Given the description of an element on the screen output the (x, y) to click on. 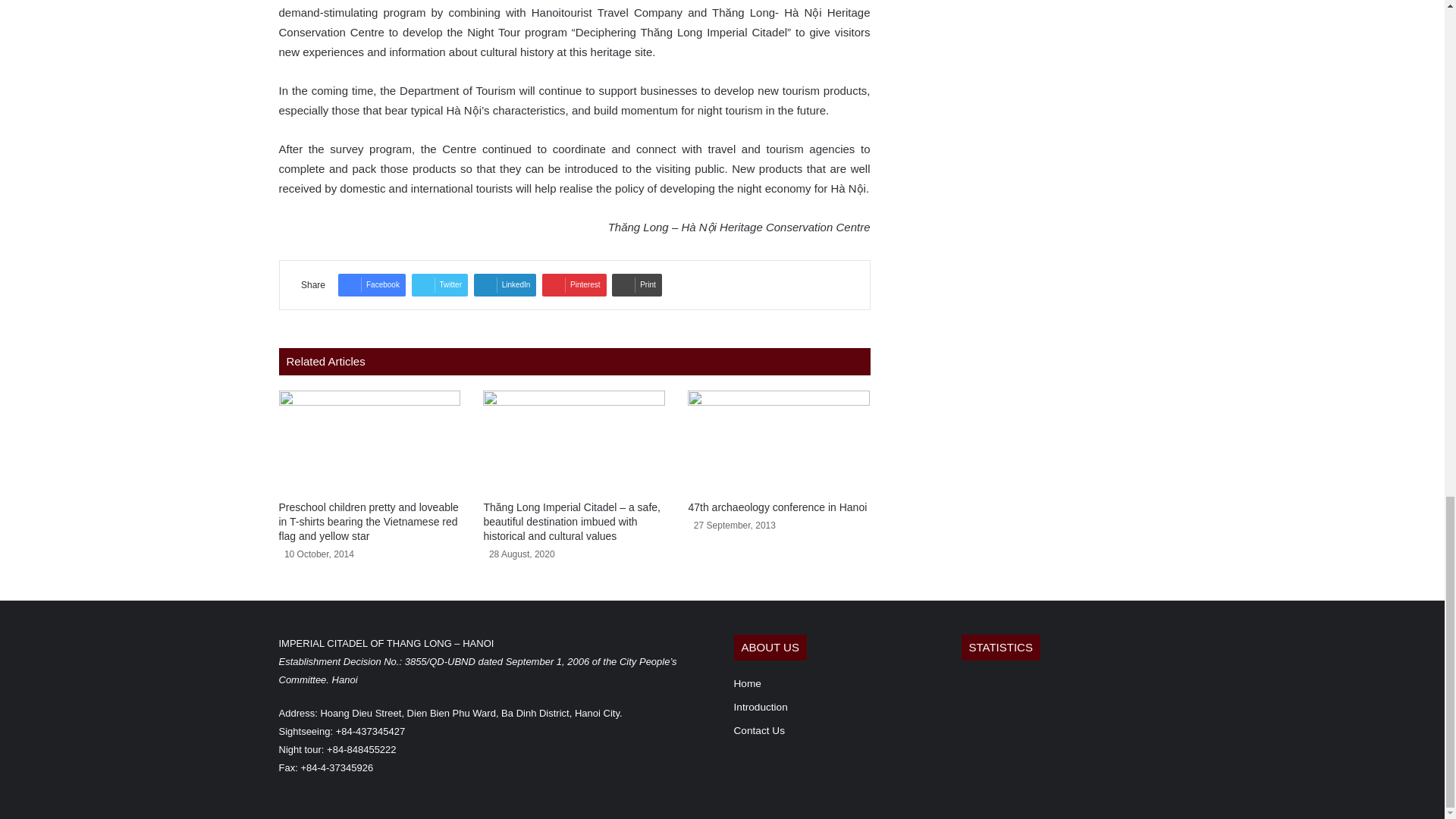
LinkedIn (505, 284)
Print (636, 284)
Twitter (439, 284)
Facebook (371, 284)
Pinterest (573, 284)
